Given the description of an element on the screen output the (x, y) to click on. 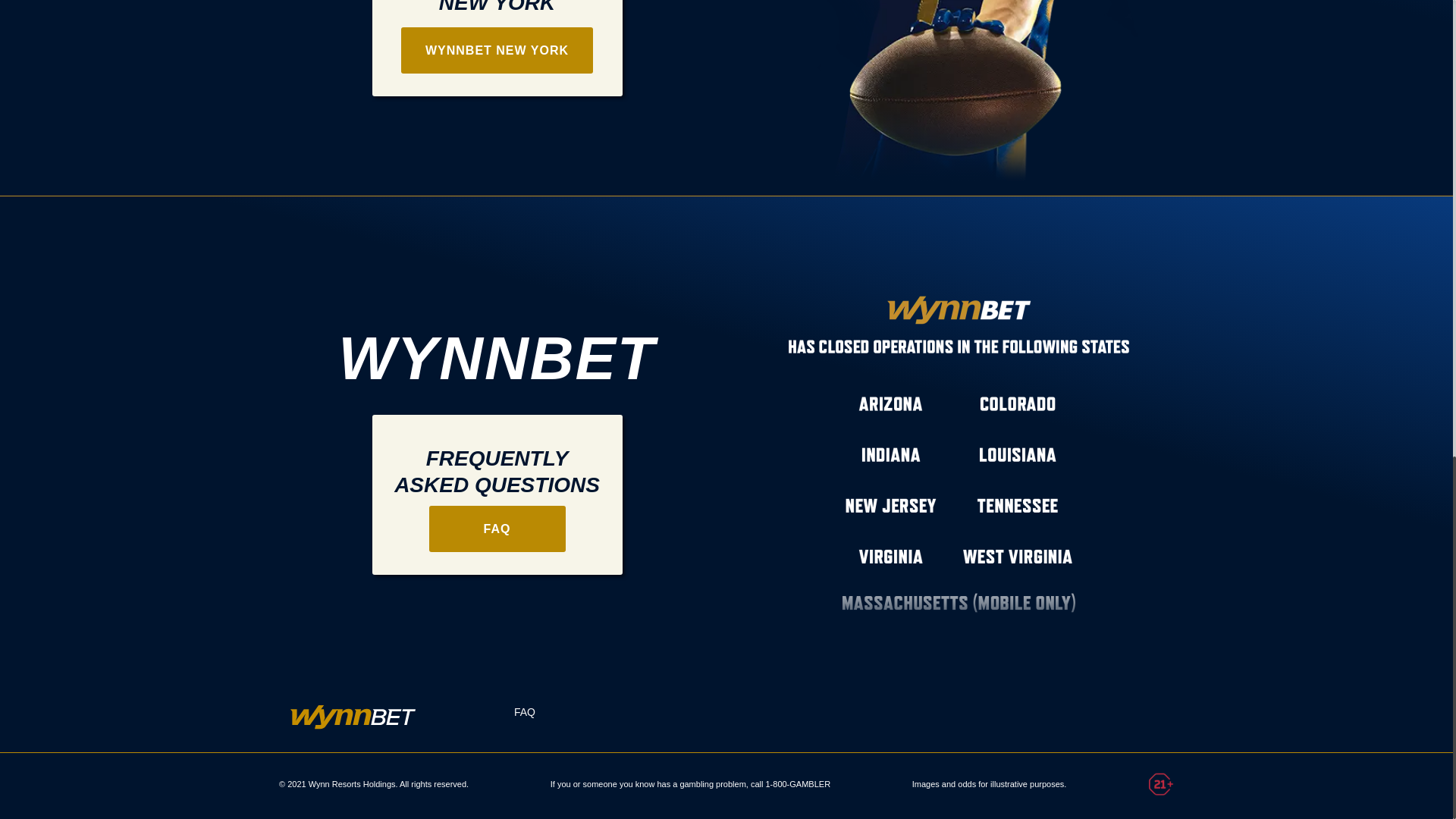
FAQ (524, 711)
WYNNBET NEW YORK (496, 50)
FAQ (497, 529)
